Given the description of an element on the screen output the (x, y) to click on. 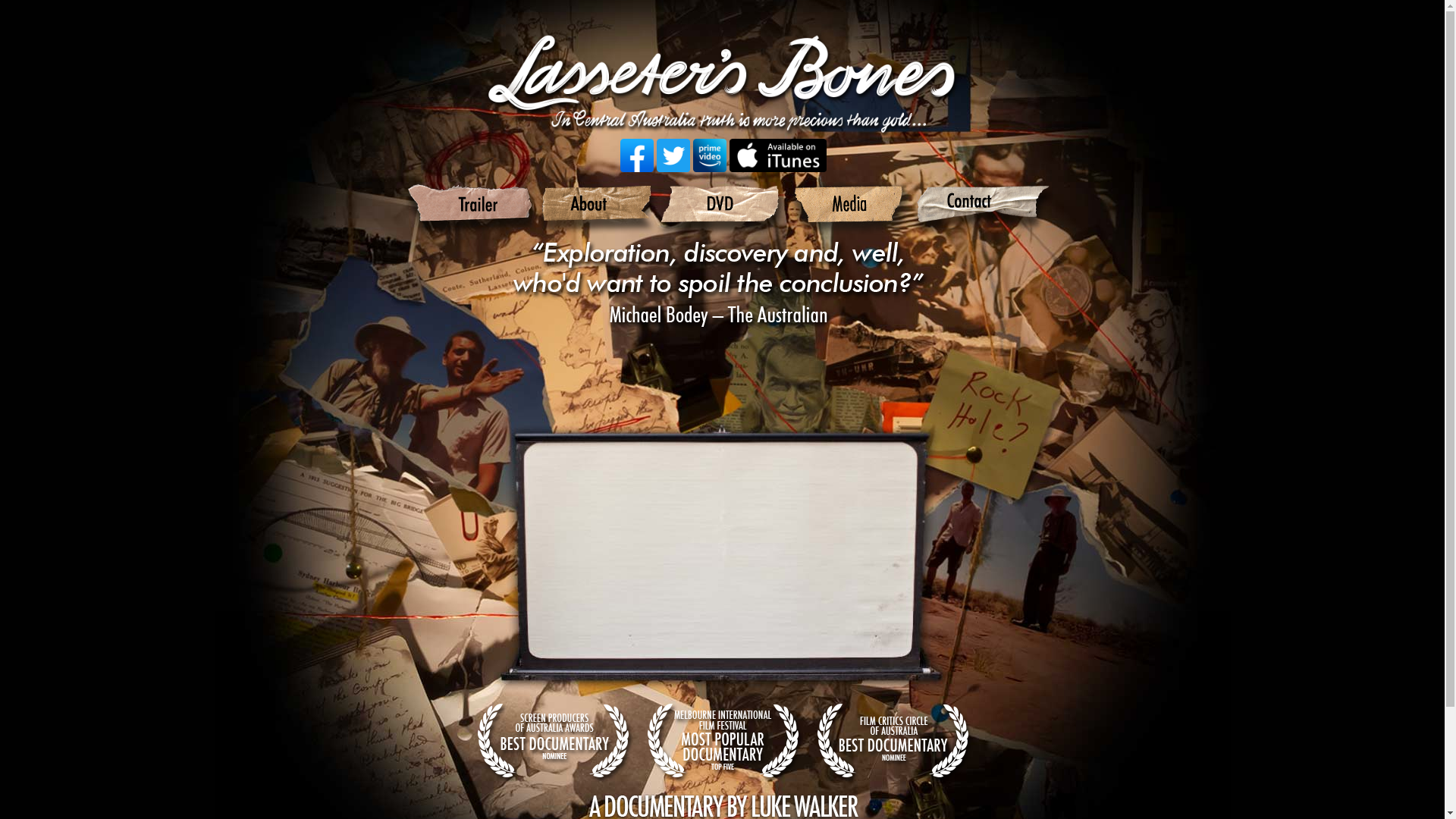
Lasseters Bones Twitter Page Element type: hover (673, 155)
Lasseters Bones on Prime Video Element type: hover (709, 155)
Available on iTunes Element type: hover (777, 155)
Film Critics Circle of Australia Best Documentary Nominee Element type: hover (891, 741)
Lasseters Bones Facebook Page Element type: hover (636, 155)
